Given the description of an element on the screen output the (x, y) to click on. 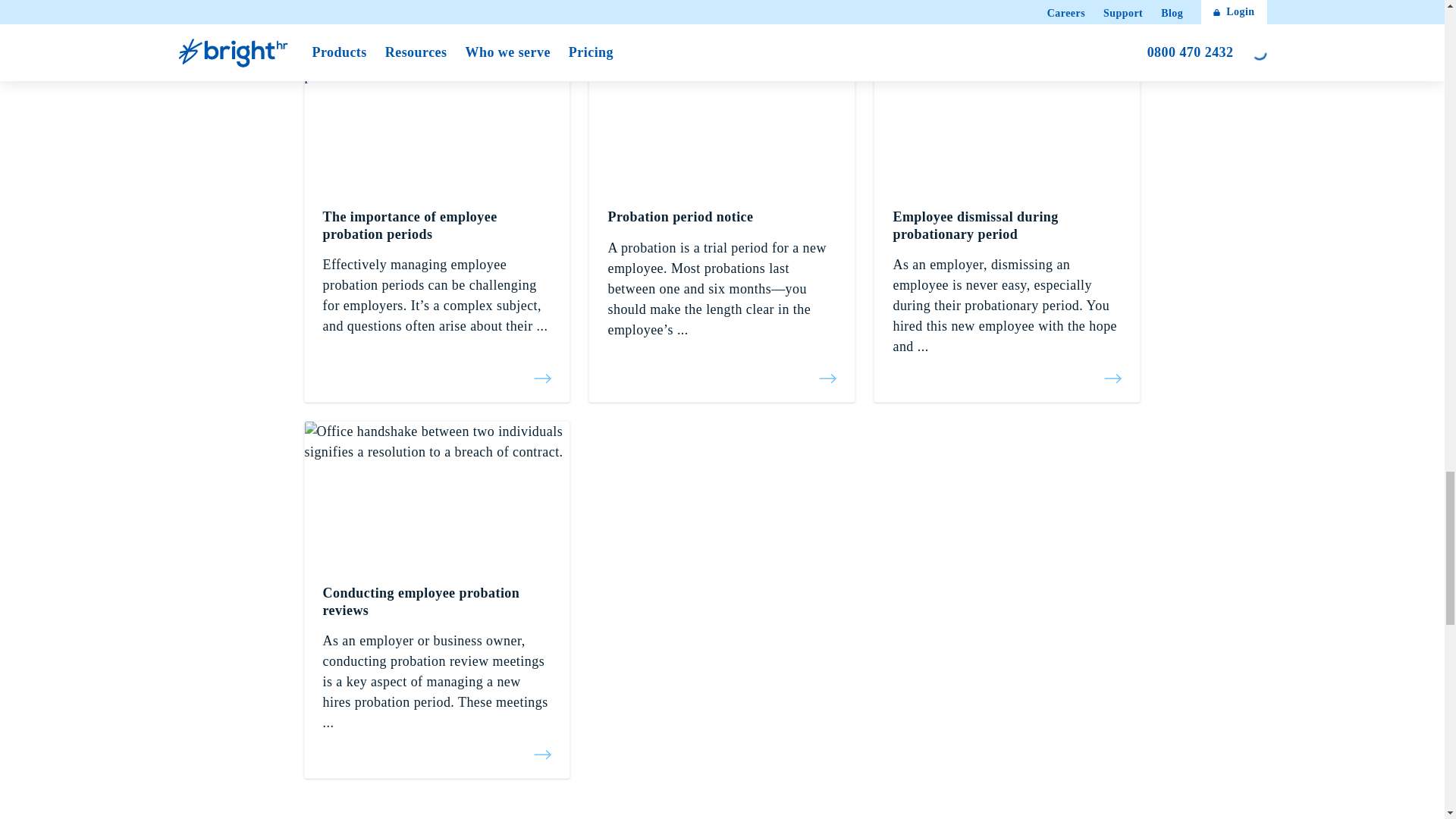
Probation period notice (721, 117)
Conducting employee probation reviews (437, 493)
The importance of employee probation periods (437, 373)
Employee dismissal during probationary period (1007, 117)
Dismissal during probation meeting (437, 178)
The importance of employee probation periods (437, 231)
Probation period notice (721, 223)
Employee dismissal during probationary period (1006, 231)
Employee dismissal during probationary period (1006, 373)
pen on paper (1007, 178)
